Given the description of an element on the screen output the (x, y) to click on. 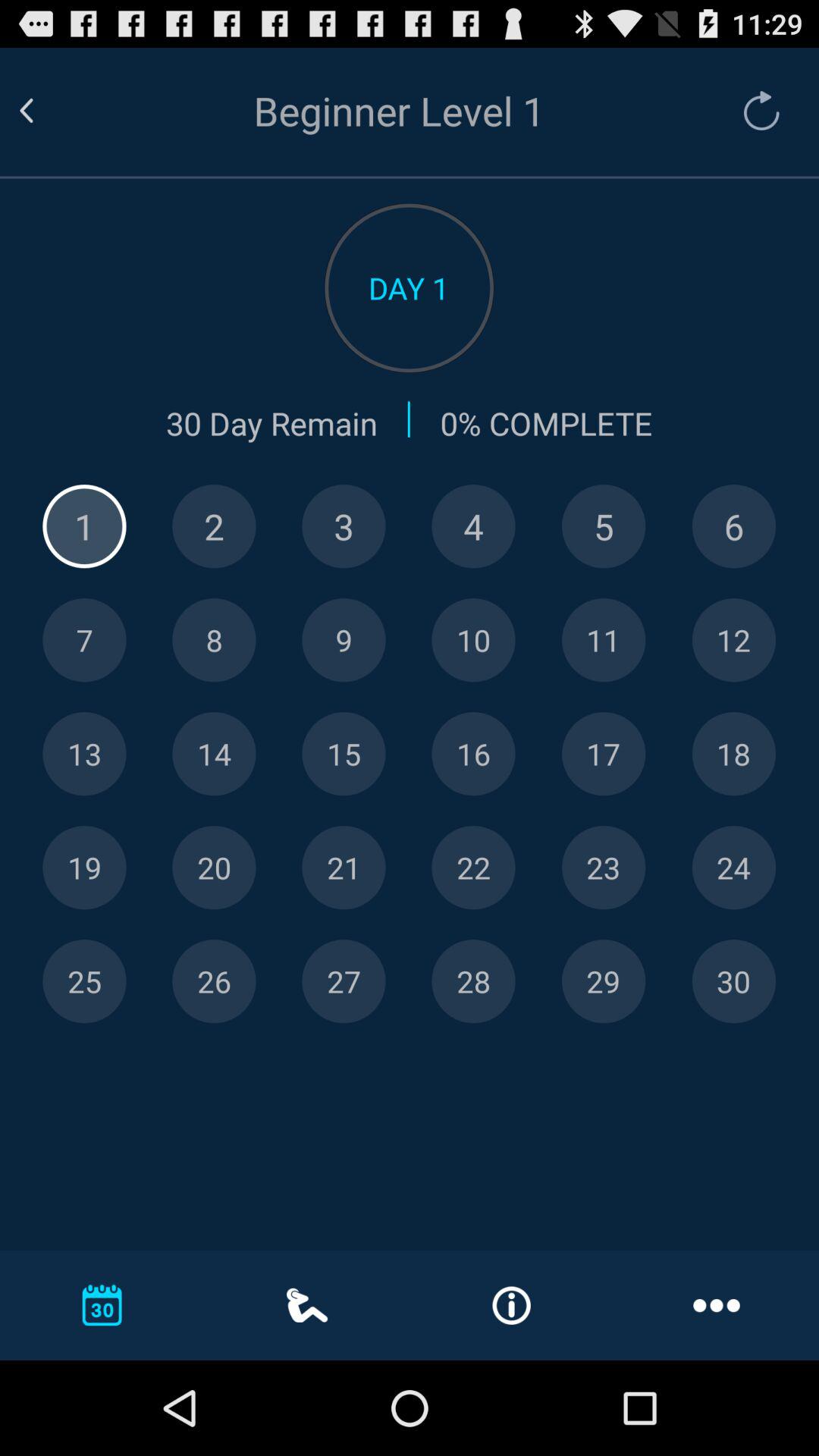
select day 23 (603, 867)
